Given the description of an element on the screen output the (x, y) to click on. 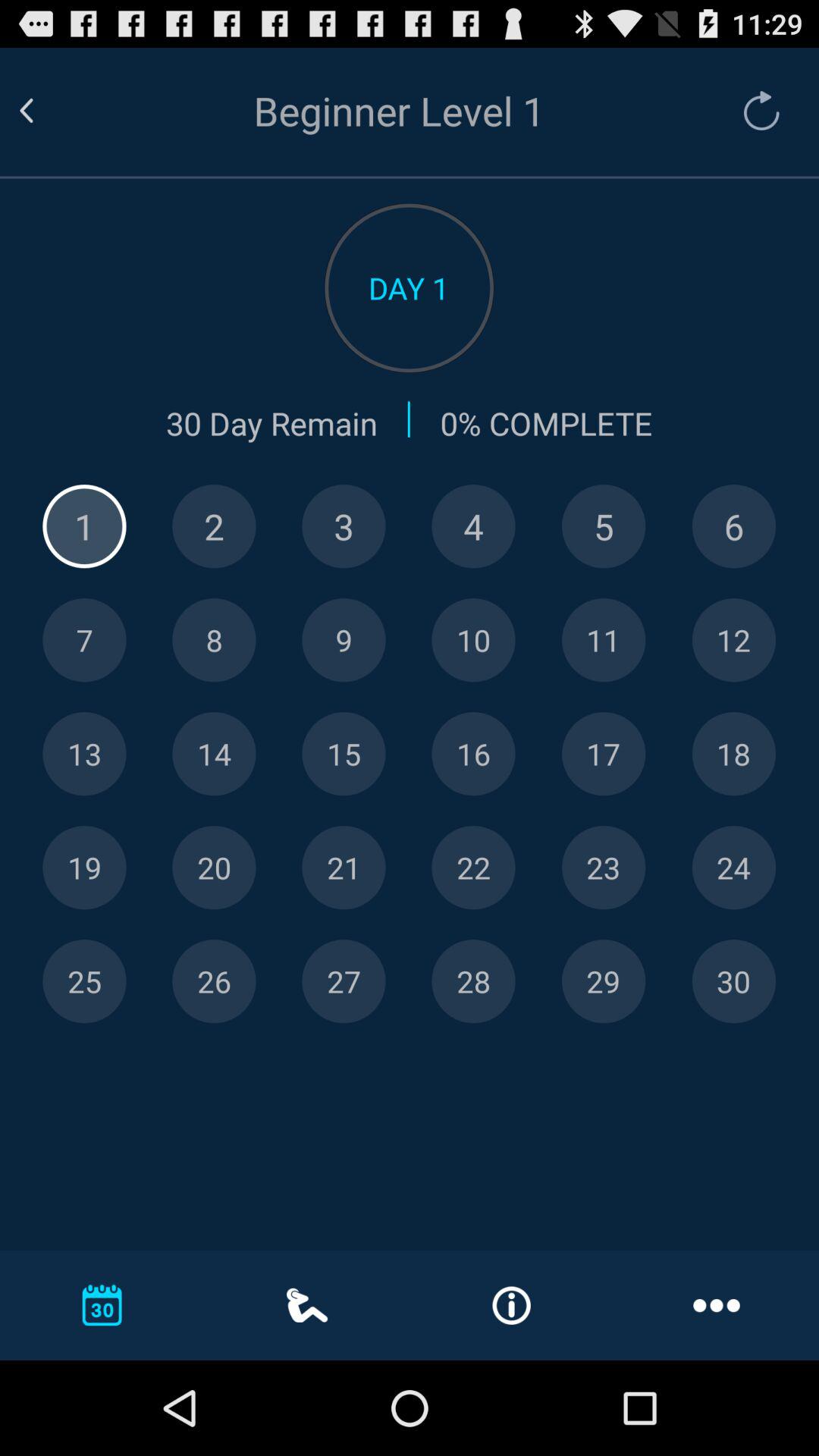
select day 23 (603, 867)
